Given the description of an element on the screen output the (x, y) to click on. 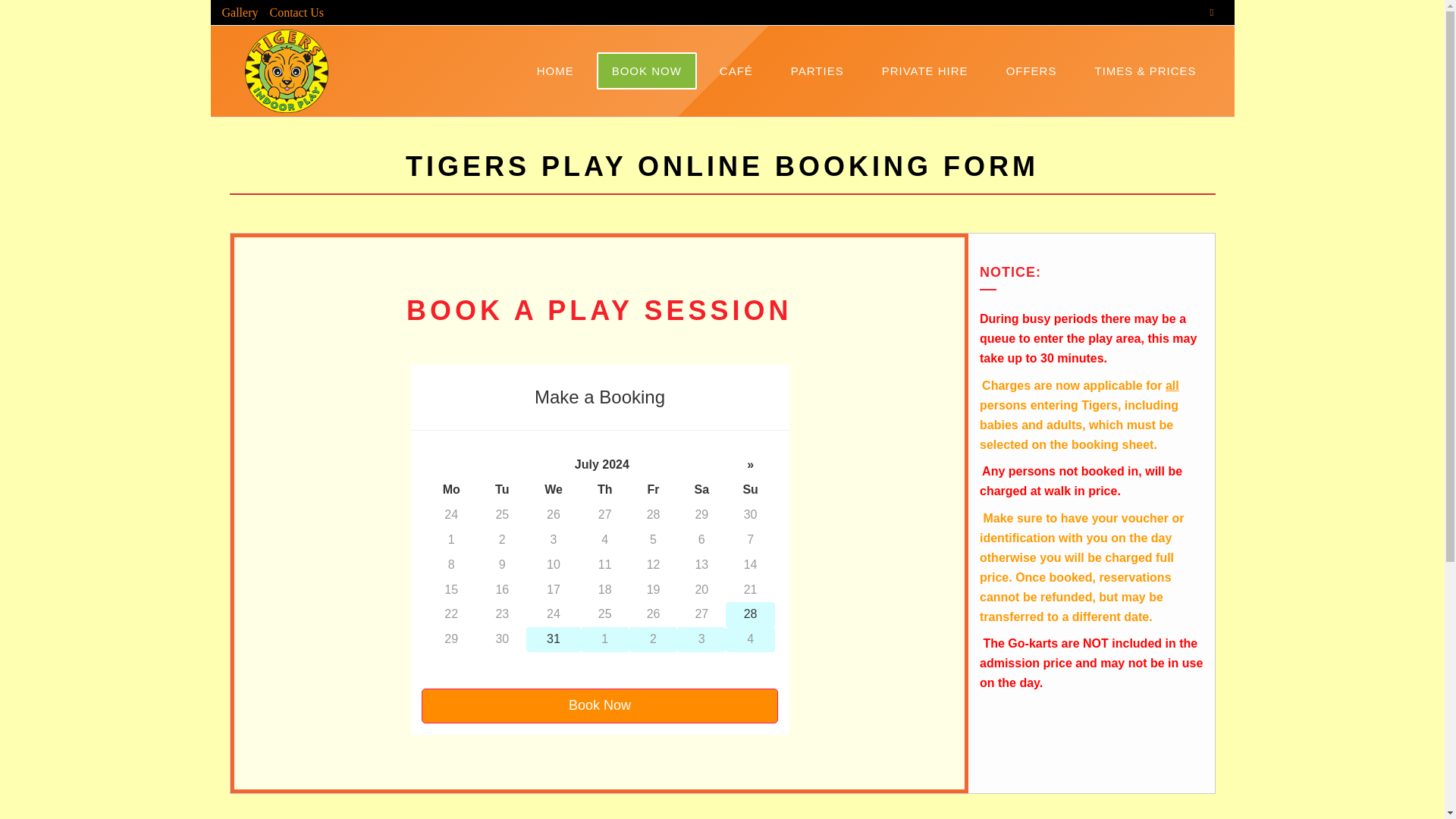
PARTIES (817, 71)
BOOK NOW (646, 71)
OFFERS (1031, 71)
PRIVATE HIRE (925, 71)
Contact Us (290, 12)
Gallery (235, 12)
